Given the description of an element on the screen output the (x, y) to click on. 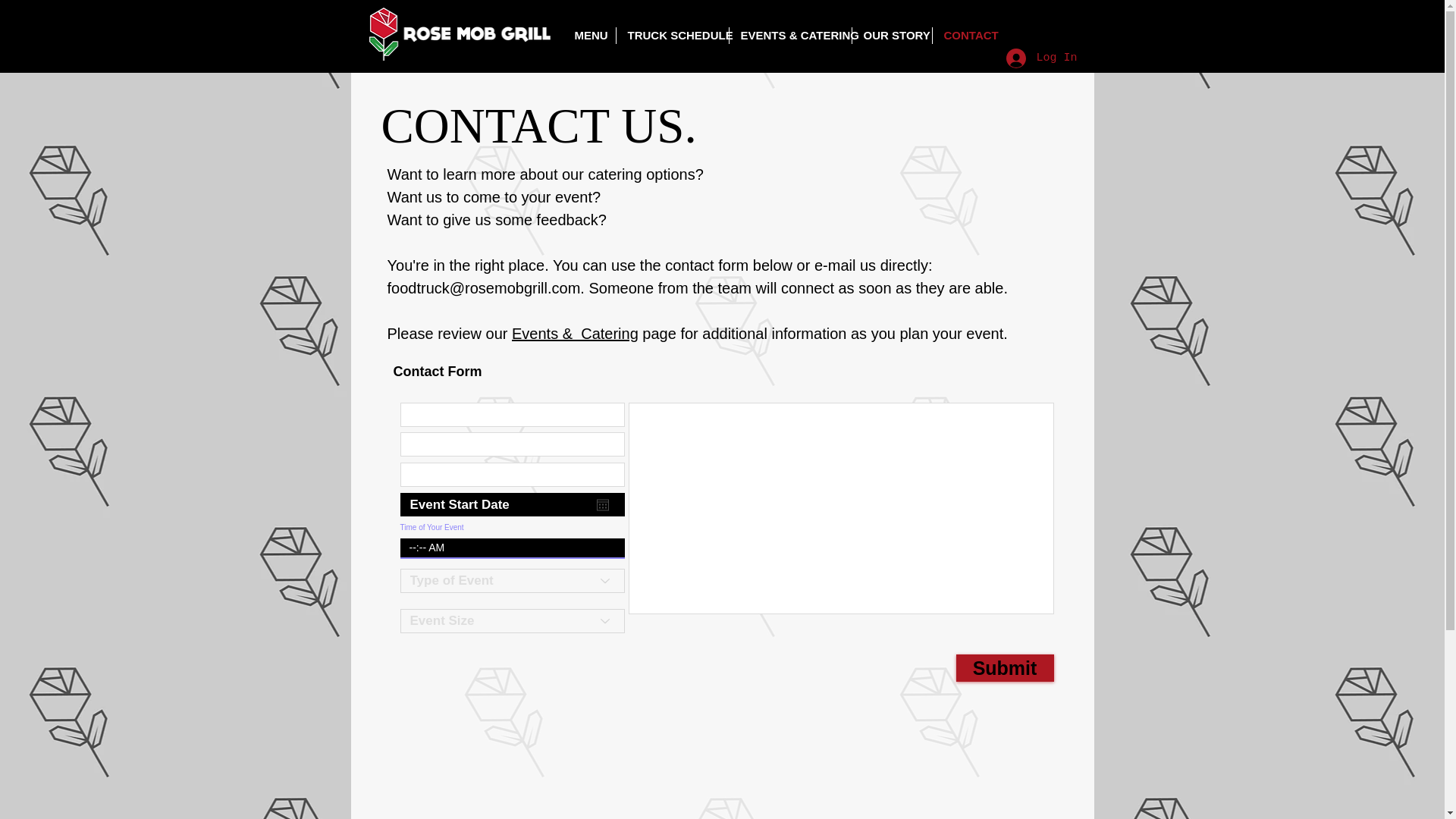
--:-- AM (505, 547)
Log In (1040, 58)
Google Maps (720, 780)
Submit (1003, 667)
OUR STORY (891, 35)
MENU (588, 35)
CONTACT (965, 35)
TRUCK SCHEDULE (671, 35)
